Given the description of an element on the screen output the (x, y) to click on. 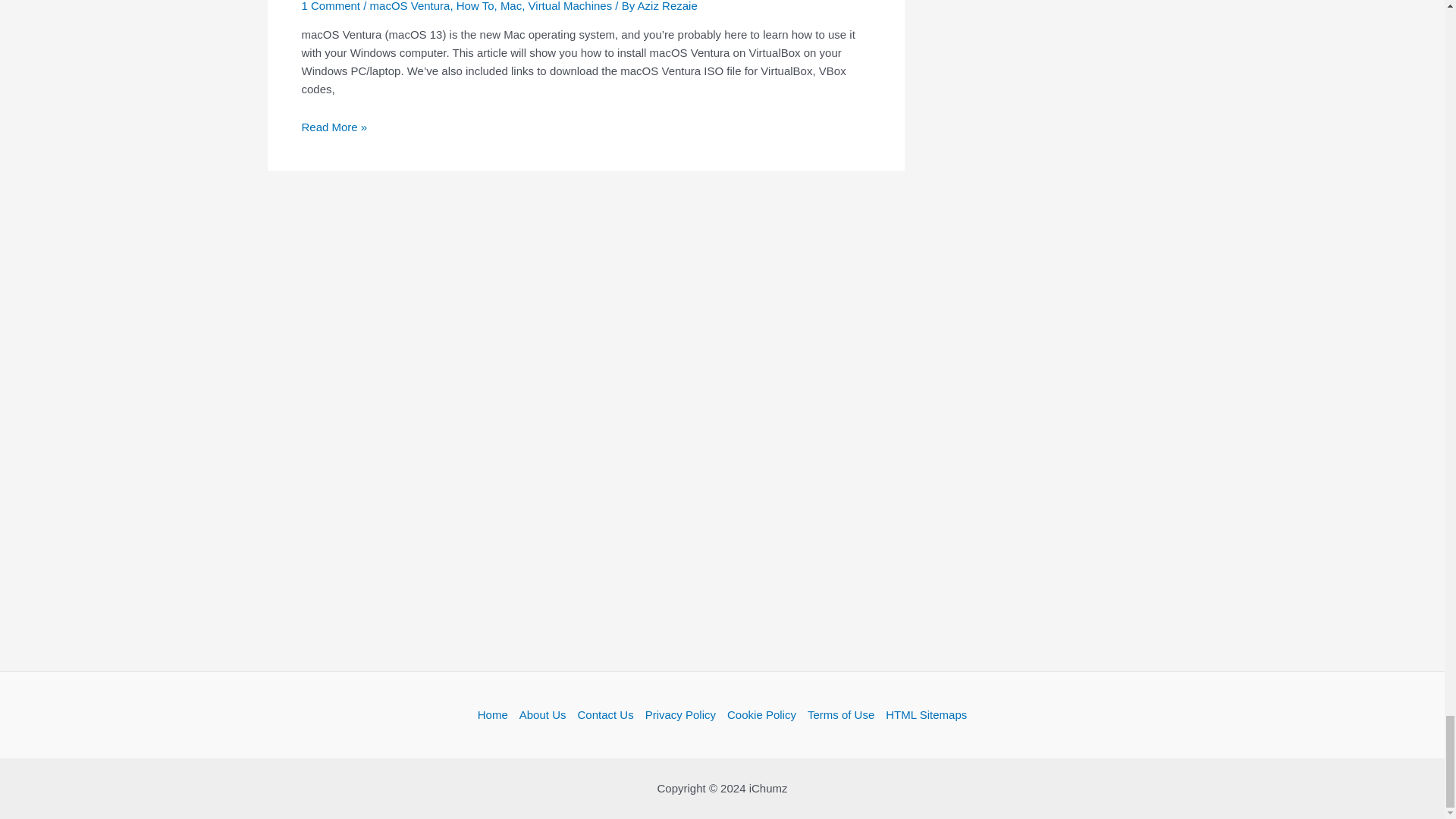
View all posts by Aziz Rezaie (667, 6)
